Given the description of an element on the screen output the (x, y) to click on. 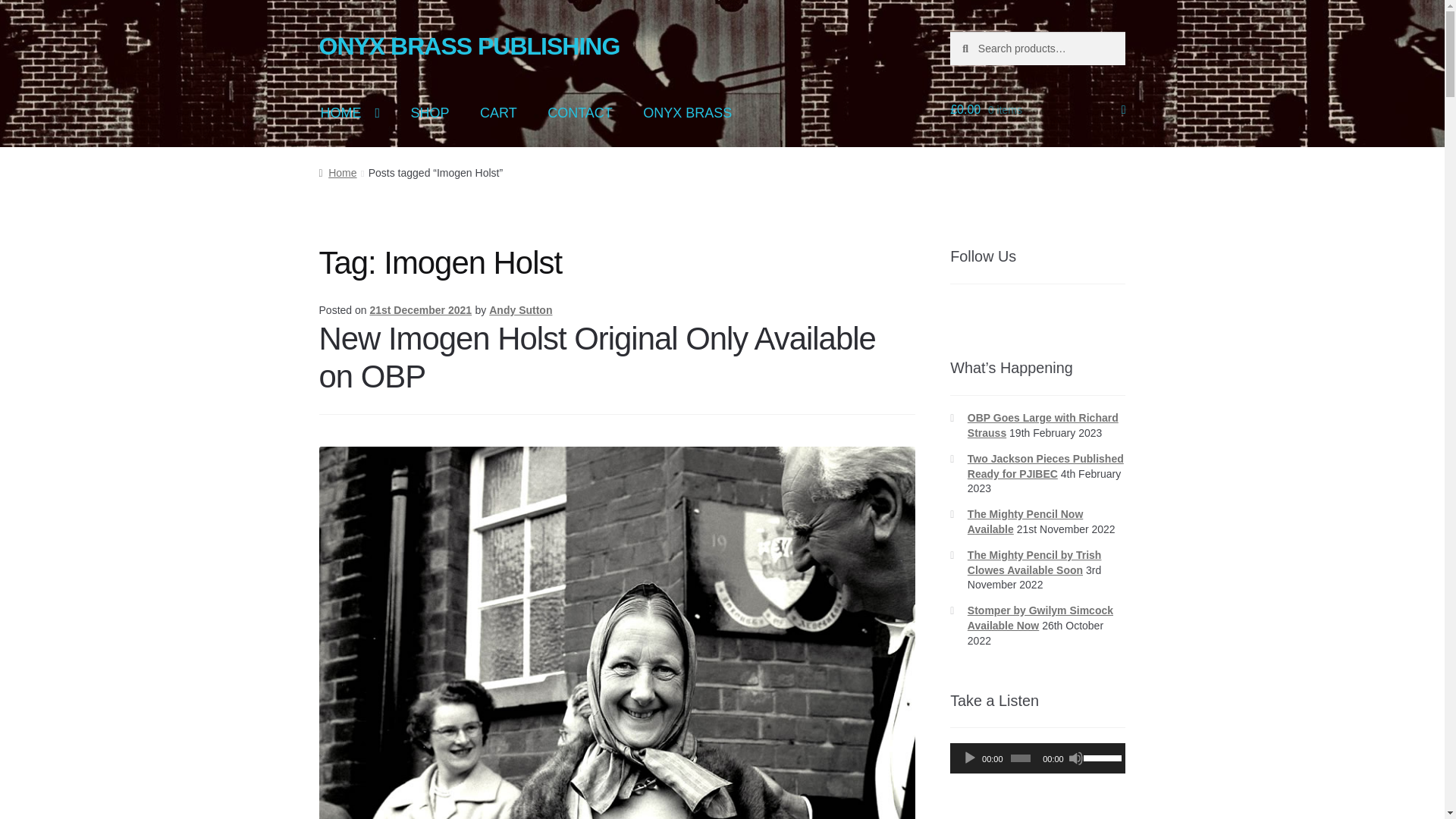
HOME (350, 113)
21st December 2021 (420, 309)
CART (498, 113)
CONTACT (580, 113)
Home (337, 173)
View your shopping basket (1037, 109)
ONYX BRASS PUBLISHING (469, 45)
ONYX BRASS (686, 113)
